Given the description of an element on the screen output the (x, y) to click on. 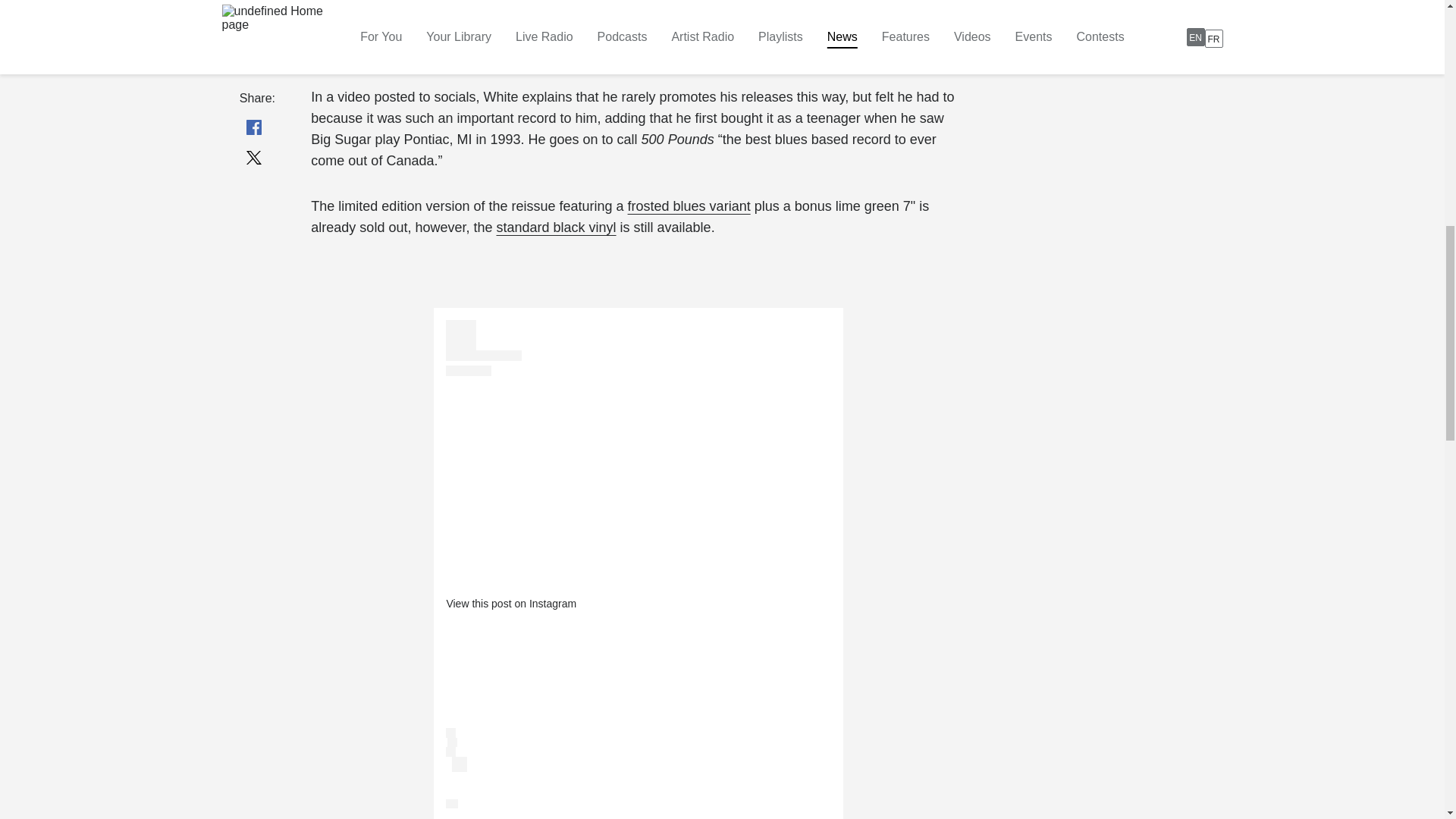
Canadian version (363, 51)
standard black vinyl (555, 227)
View this post on Instagram (510, 603)
frosted blues variant (689, 206)
